Given the description of an element on the screen output the (x, y) to click on. 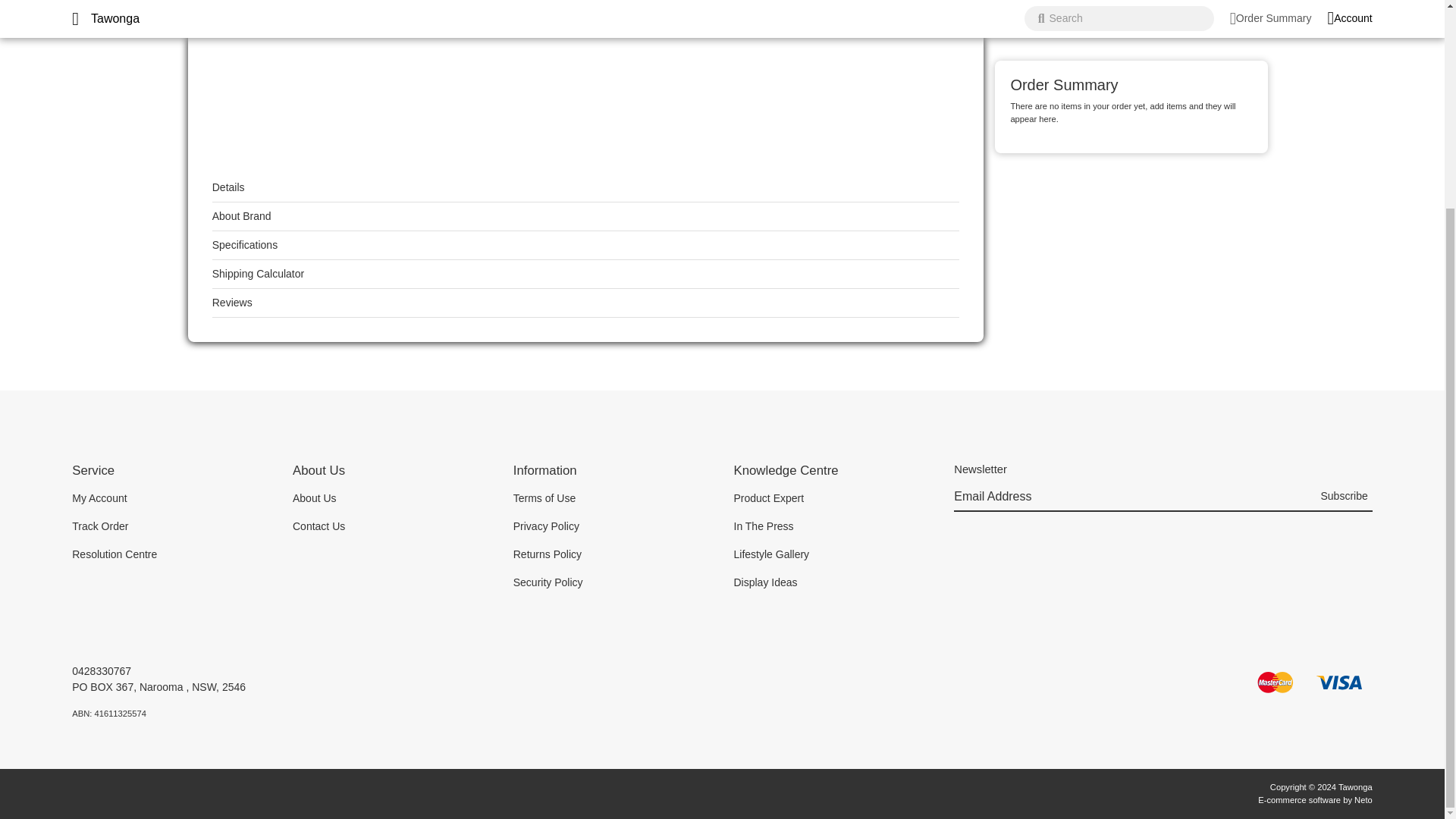
Subscribe (1343, 497)
